Given the description of an element on the screen output the (x, y) to click on. 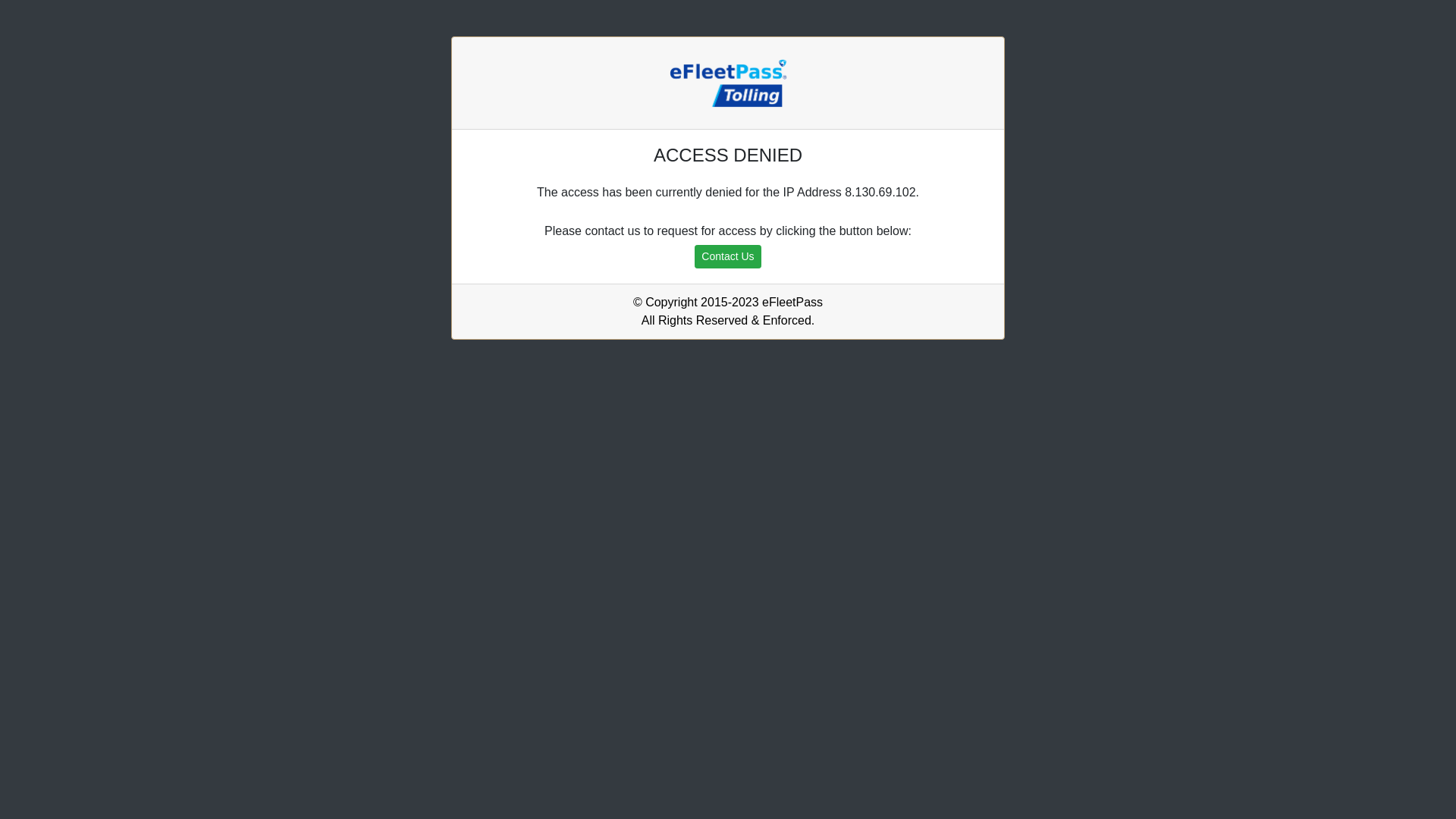
Contact Us Element type: text (727, 256)
